Given the description of an element on the screen output the (x, y) to click on. 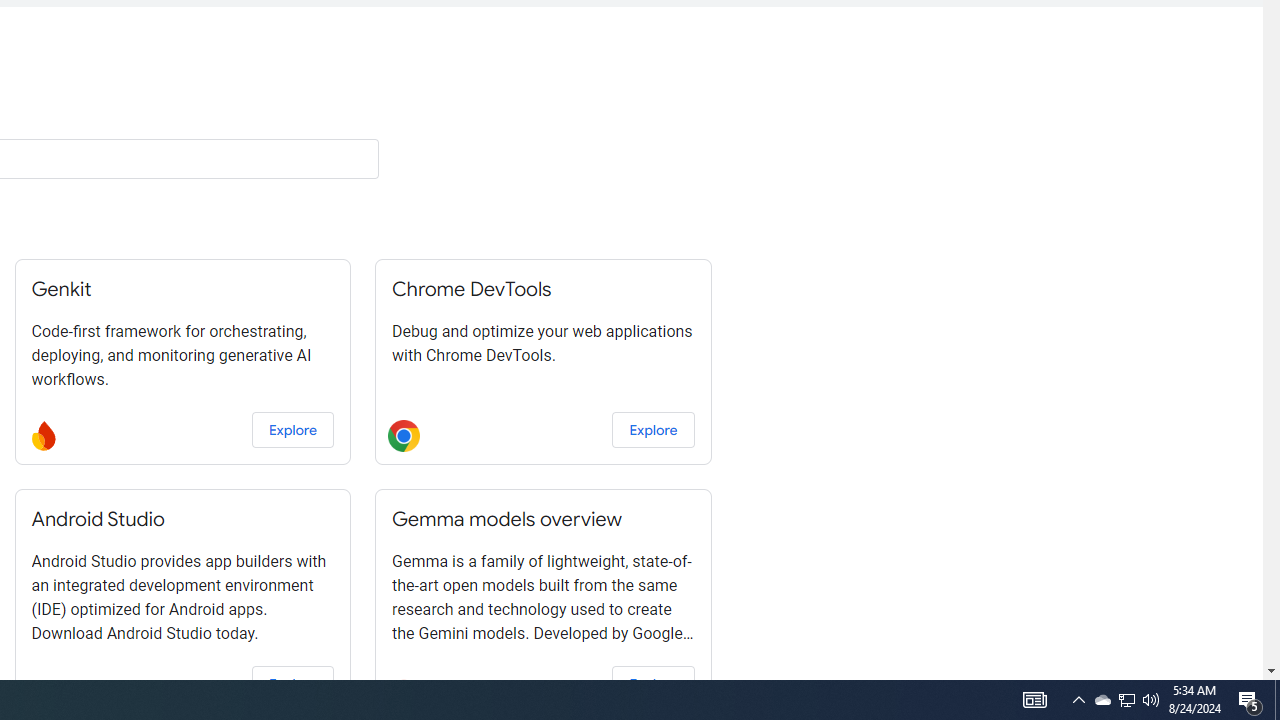
Explore (653, 684)
